Given the description of an element on the screen output the (x, y) to click on. 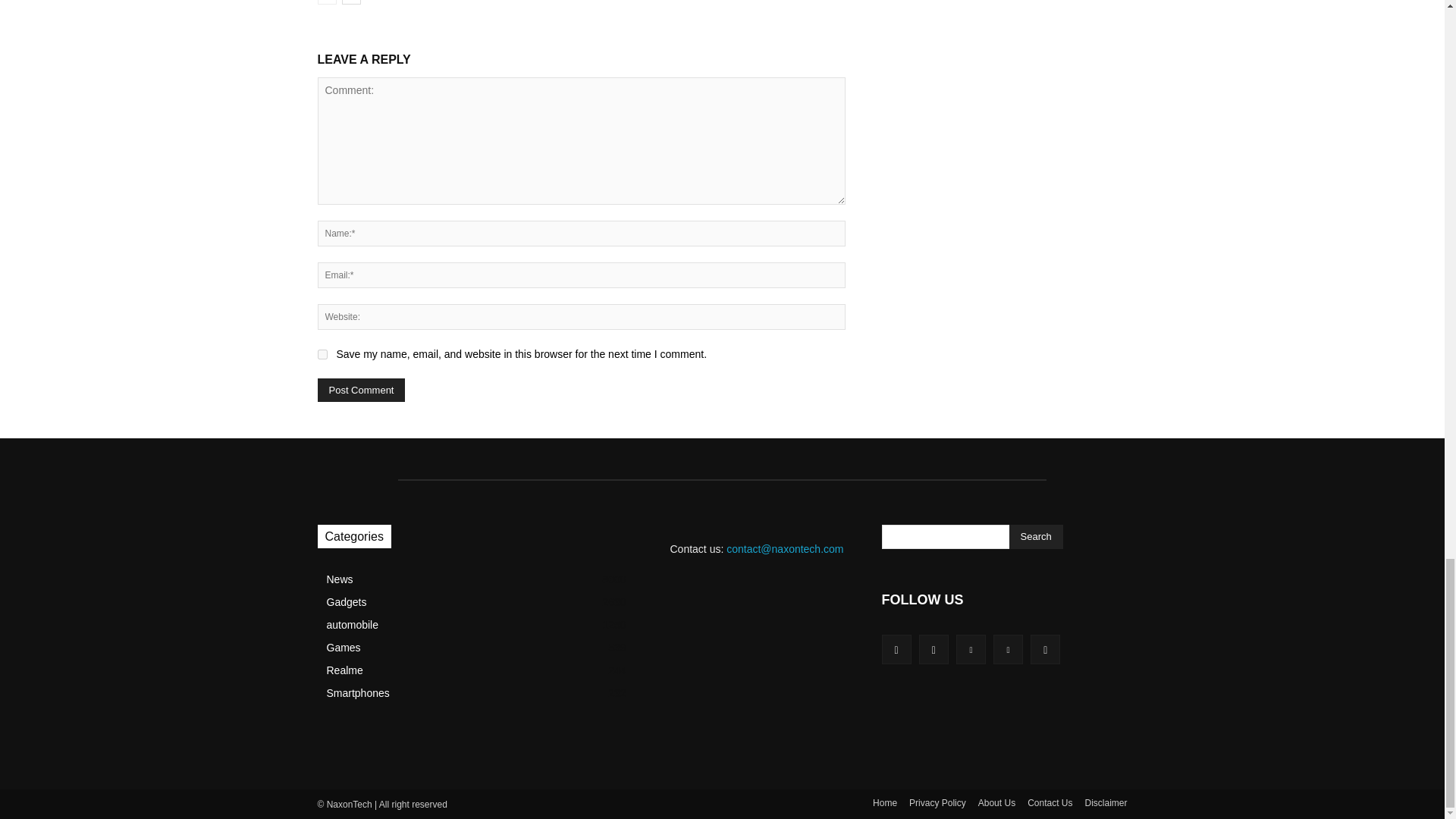
Post Comment (360, 390)
yes (321, 354)
